Given the description of an element on the screen output the (x, y) to click on. 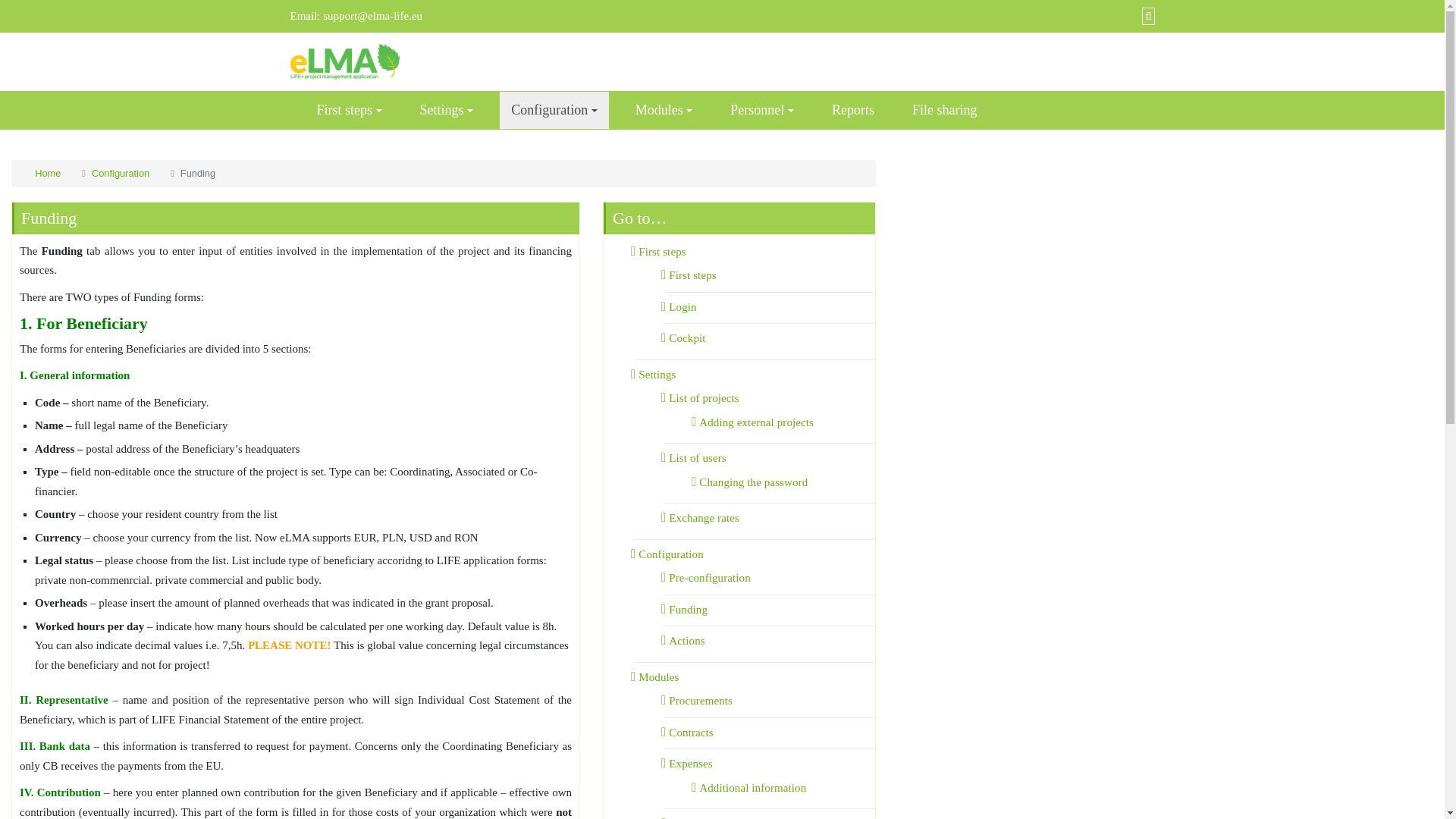
Configuration (553, 109)
Search (1146, 15)
Personnel (762, 109)
First steps (348, 109)
Settings (446, 109)
Modules (664, 109)
